Given the description of an element on the screen output the (x, y) to click on. 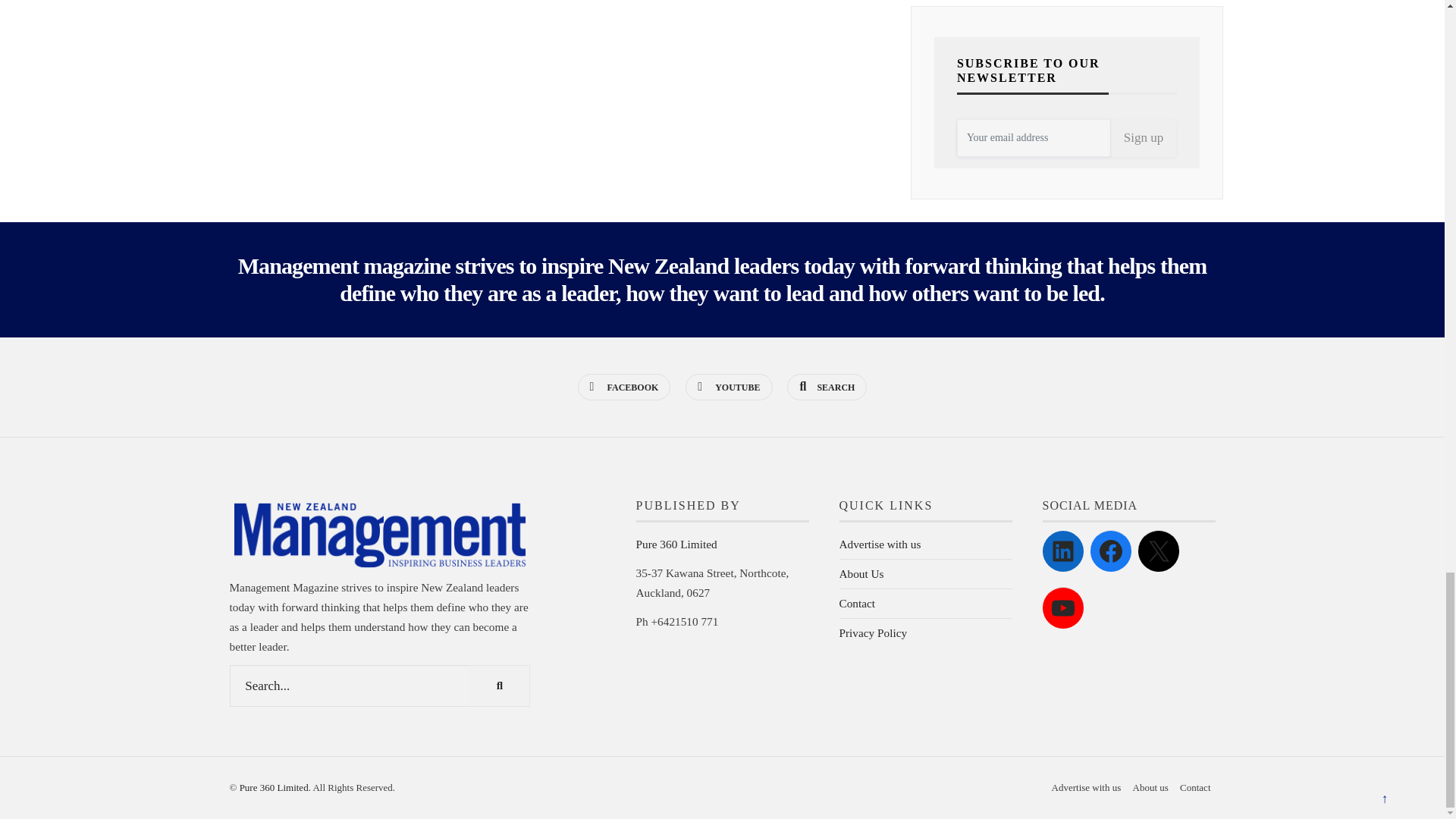
Search... (378, 685)
Sign up (1143, 137)
